Given the description of an element on the screen output the (x, y) to click on. 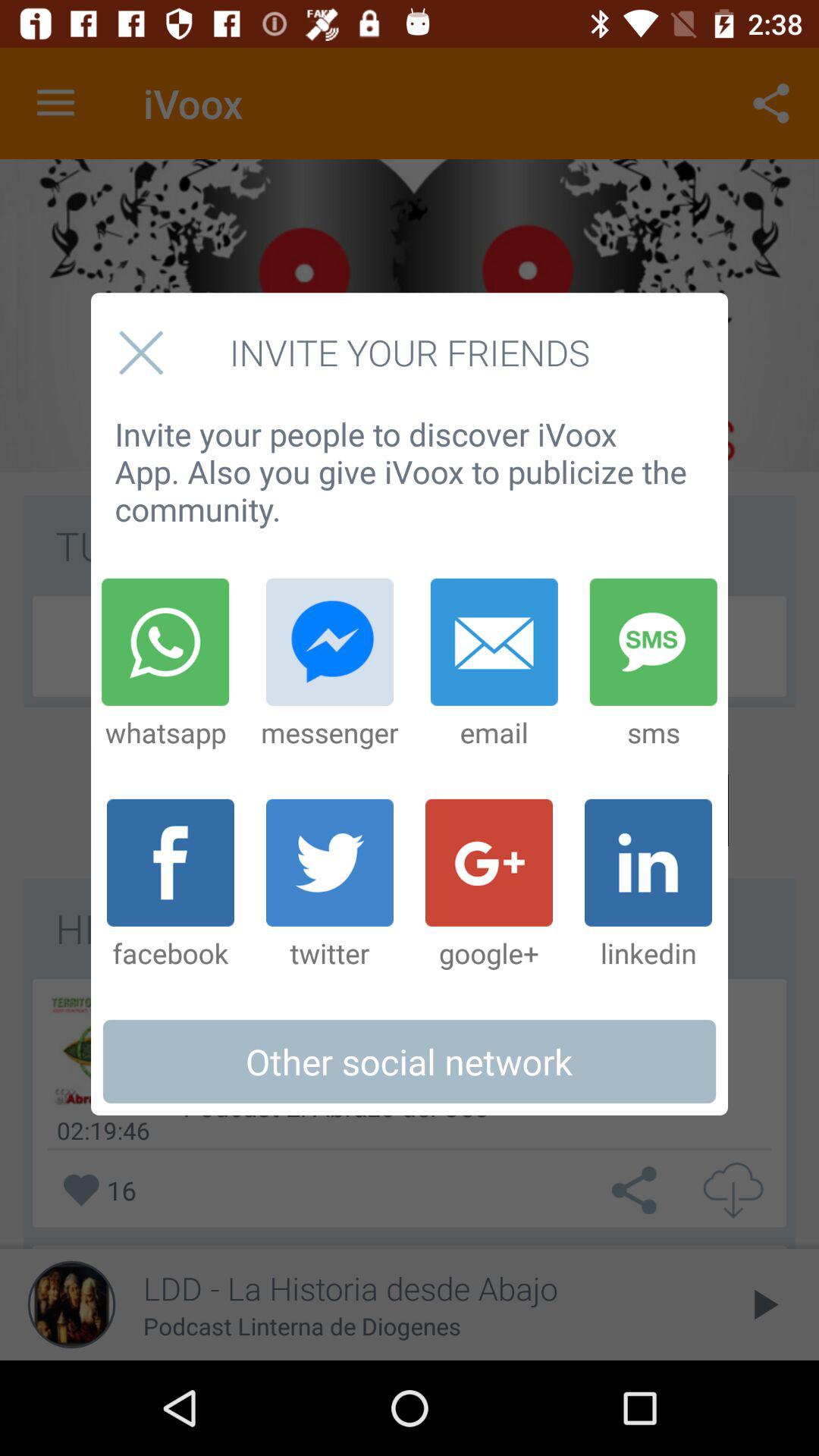
press item to the left of sms icon (493, 664)
